Given the description of an element on the screen output the (x, y) to click on. 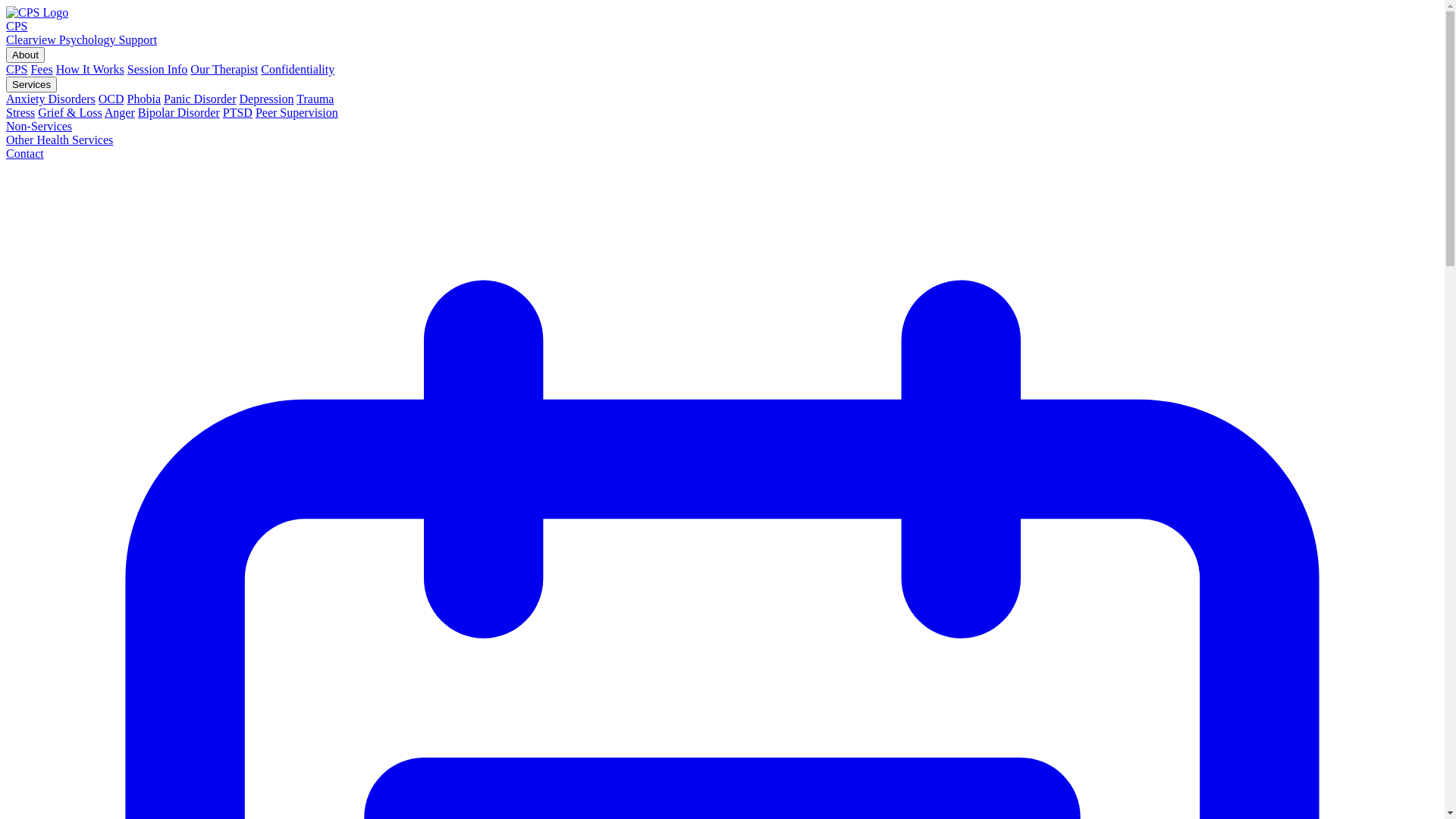
CPS Element type: text (16, 68)
Anxiety Disorders Element type: text (50, 98)
Session Info Element type: text (157, 68)
How It Works Element type: text (90, 68)
OCD Element type: text (111, 98)
Phobia Element type: text (143, 98)
CPS
Clearview Psychology Support Element type: text (722, 26)
Stress Element type: text (20, 112)
Bipolar Disorder Element type: text (178, 112)
Non-Services Element type: text (39, 125)
PTSD Element type: text (237, 112)
Services Element type: text (31, 84)
Other Health Services Element type: text (59, 139)
Contact Element type: text (24, 153)
Trauma Element type: text (314, 98)
Depression Element type: text (266, 98)
Fees Element type: text (41, 68)
Peer Supervision Element type: text (296, 112)
Anger Element type: text (119, 112)
Panic Disorder Element type: text (199, 98)
About Element type: text (25, 54)
Our Therapist Element type: text (223, 68)
Grief & Loss Element type: text (69, 112)
Confidentiality Element type: text (297, 68)
